Given the description of an element on the screen output the (x, y) to click on. 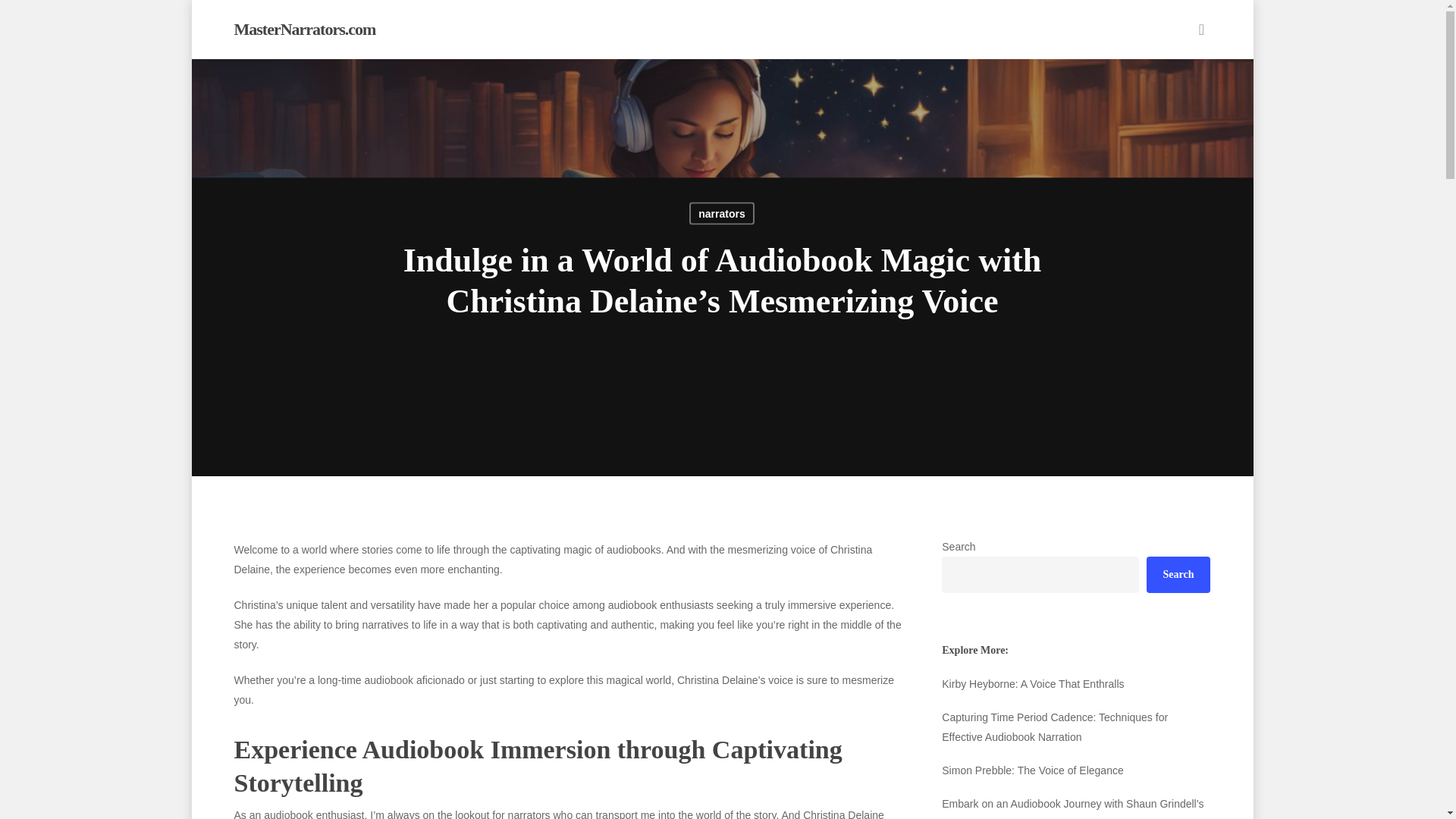
Search (1179, 574)
Simon Prebble: The Voice of Elegance (1075, 770)
narrators (721, 212)
Kirby Heyborne: A Voice That Enthralls (1075, 683)
search (1200, 28)
MasterNarrators.com (303, 29)
